Given the description of an element on the screen output the (x, y) to click on. 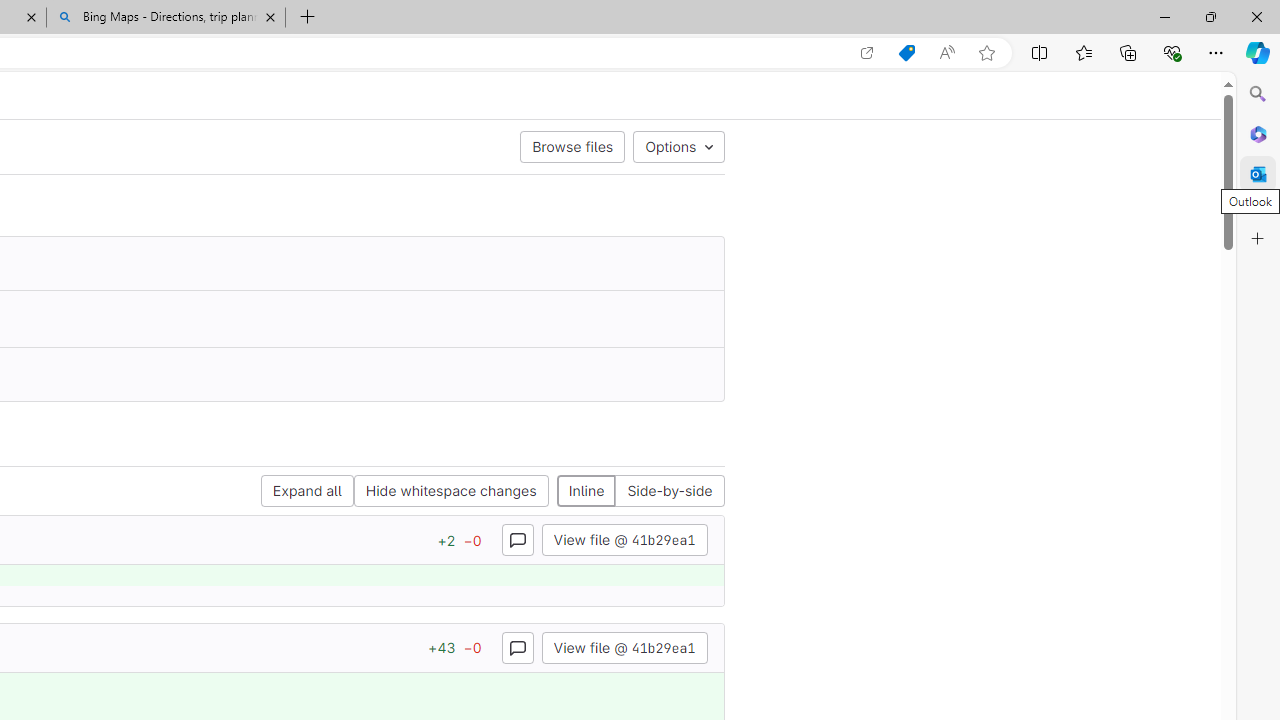
Browse files (572, 146)
Expand all (306, 491)
Outlook (1258, 174)
Toggle comments for this file (516, 646)
Hide whitespace changes (451, 491)
